Given the description of an element on the screen output the (x, y) to click on. 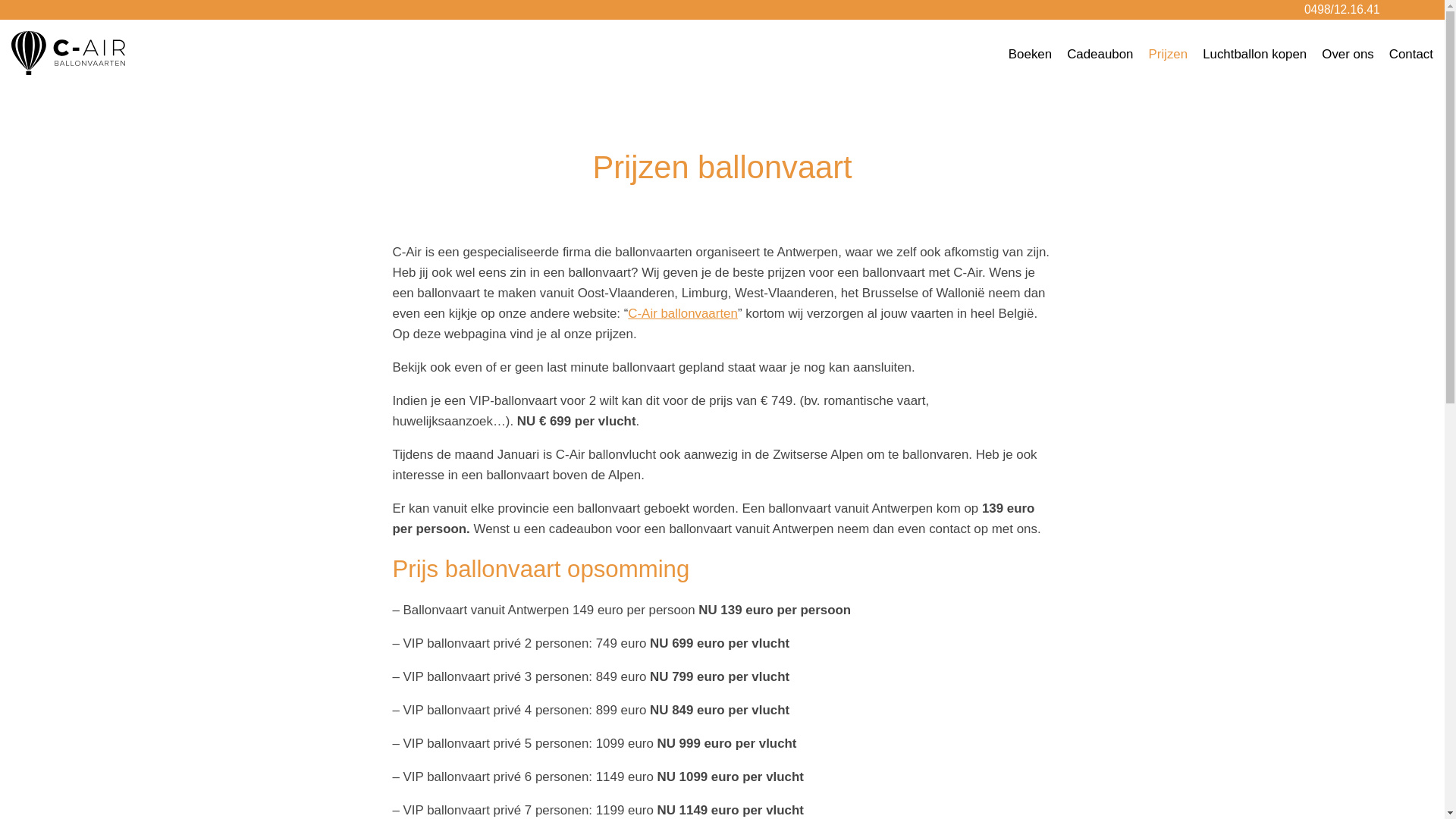
Luchtballon kopen Element type: text (1254, 54)
Prijzen Element type: text (1167, 54)
0498/12.16.41 Element type: text (1342, 9)
Boeken Element type: text (1029, 54)
C-Air ballonvaarten Element type: text (682, 313)
Over ons Element type: text (1347, 54)
Contact Element type: text (1411, 54)
Cadeaubon Element type: text (1099, 54)
